Given the description of an element on the screen output the (x, y) to click on. 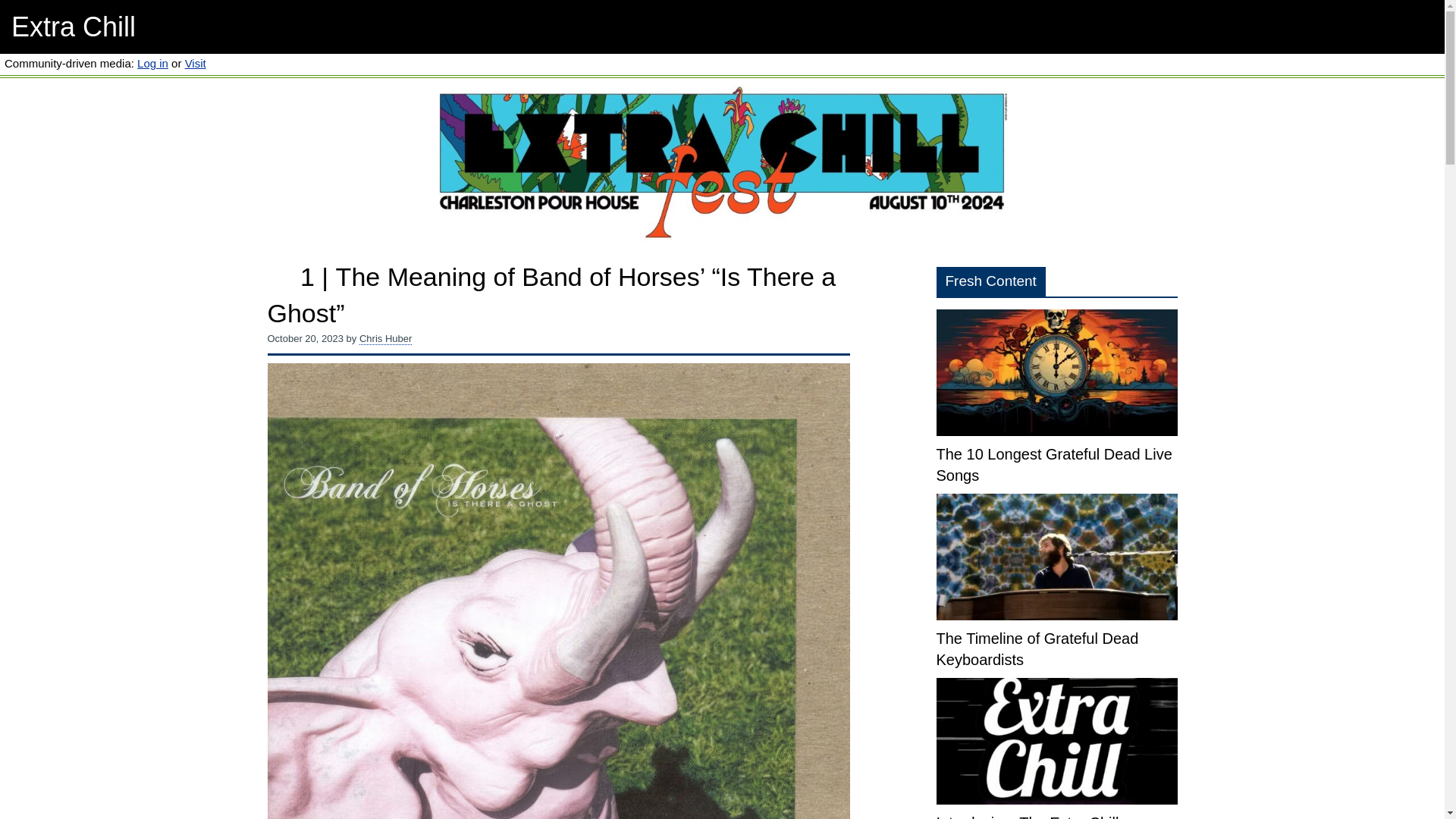
Extra Chill (73, 27)
Chris Huber (385, 338)
Posts by Chris Huber (385, 338)
Log in (152, 62)
Visit (195, 62)
